Given the description of an element on the screen output the (x, y) to click on. 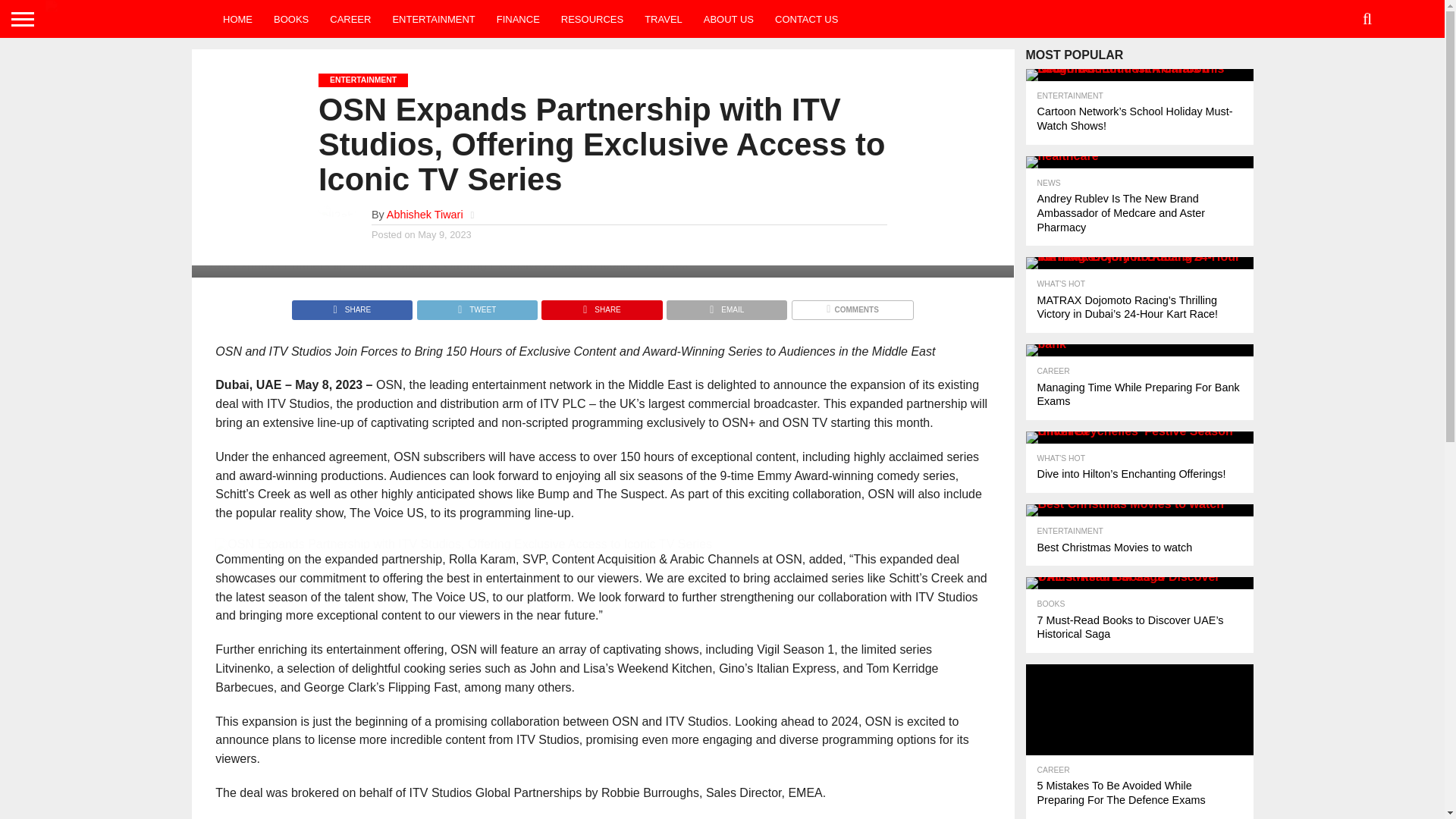
TWEET (476, 305)
TRAVEL (663, 18)
Tweet This Post (476, 305)
BOOKS (290, 18)
Pin This Post (601, 305)
COMMENTS (852, 305)
Posts by Abhishek Tiwari (425, 214)
RESOURCES (591, 18)
CONTACT US (806, 18)
HOME (237, 18)
